Given the description of an element on the screen output the (x, y) to click on. 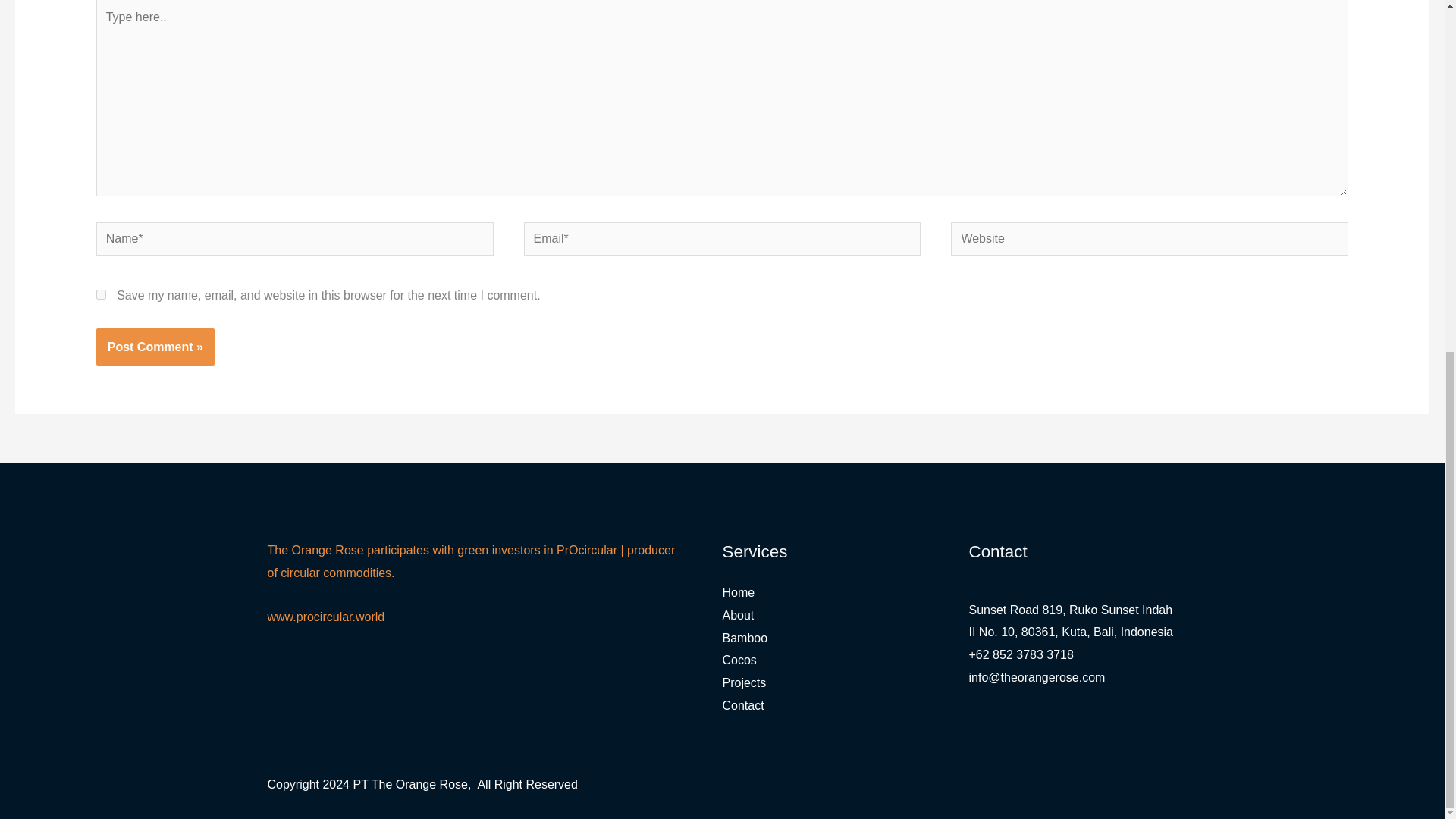
Bamboo (744, 637)
Projects (743, 682)
www.procircular.world (325, 616)
Home (738, 592)
Contact (742, 705)
yes (101, 294)
Cocos (738, 659)
About (738, 615)
